Given the description of an element on the screen output the (x, y) to click on. 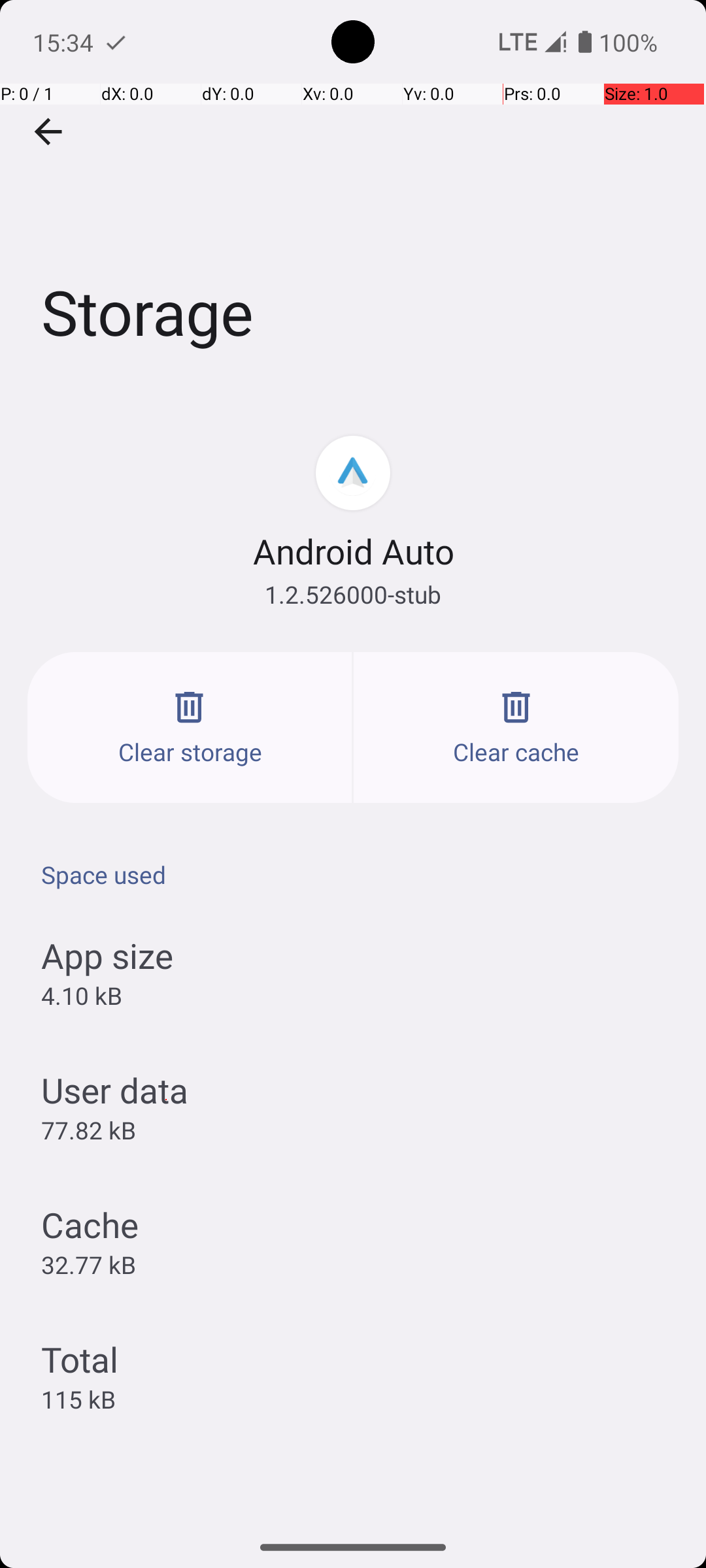
1.2.526000-stub Element type: android.widget.TextView (352, 593)
Clear storage Element type: android.widget.Button (189, 727)
4.10 kB Element type: android.widget.TextView (81, 995)
77.82 kB Element type: android.widget.TextView (88, 1129)
32.77 kB Element type: android.widget.TextView (88, 1264)
115 kB Element type: android.widget.TextView (78, 1398)
